Given the description of an element on the screen output the (x, y) to click on. 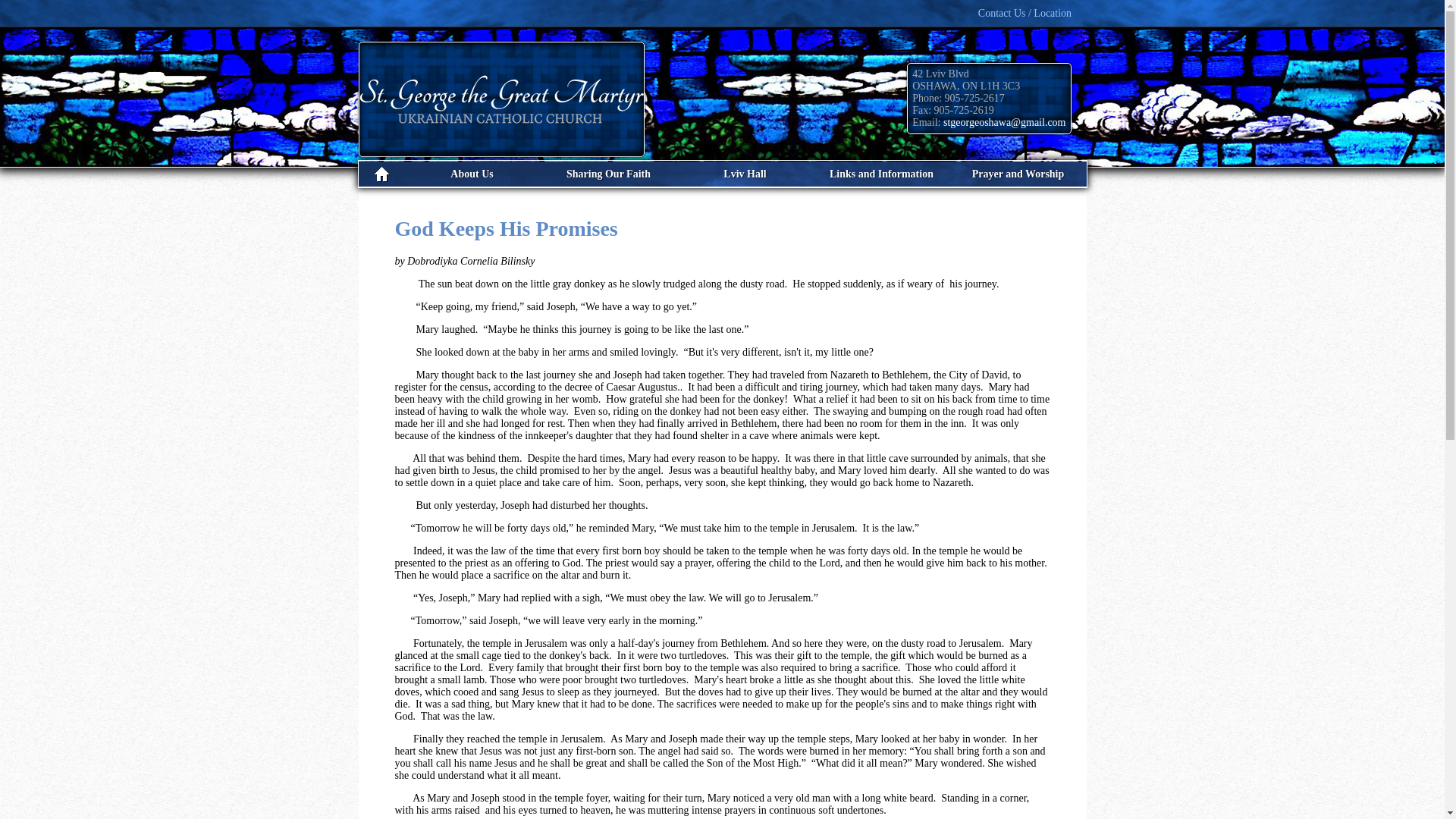
About Us (471, 173)
Lviv Hall (744, 173)
Sharing Our Faith (608, 173)
Home (380, 173)
